Given the description of an element on the screen output the (x, y) to click on. 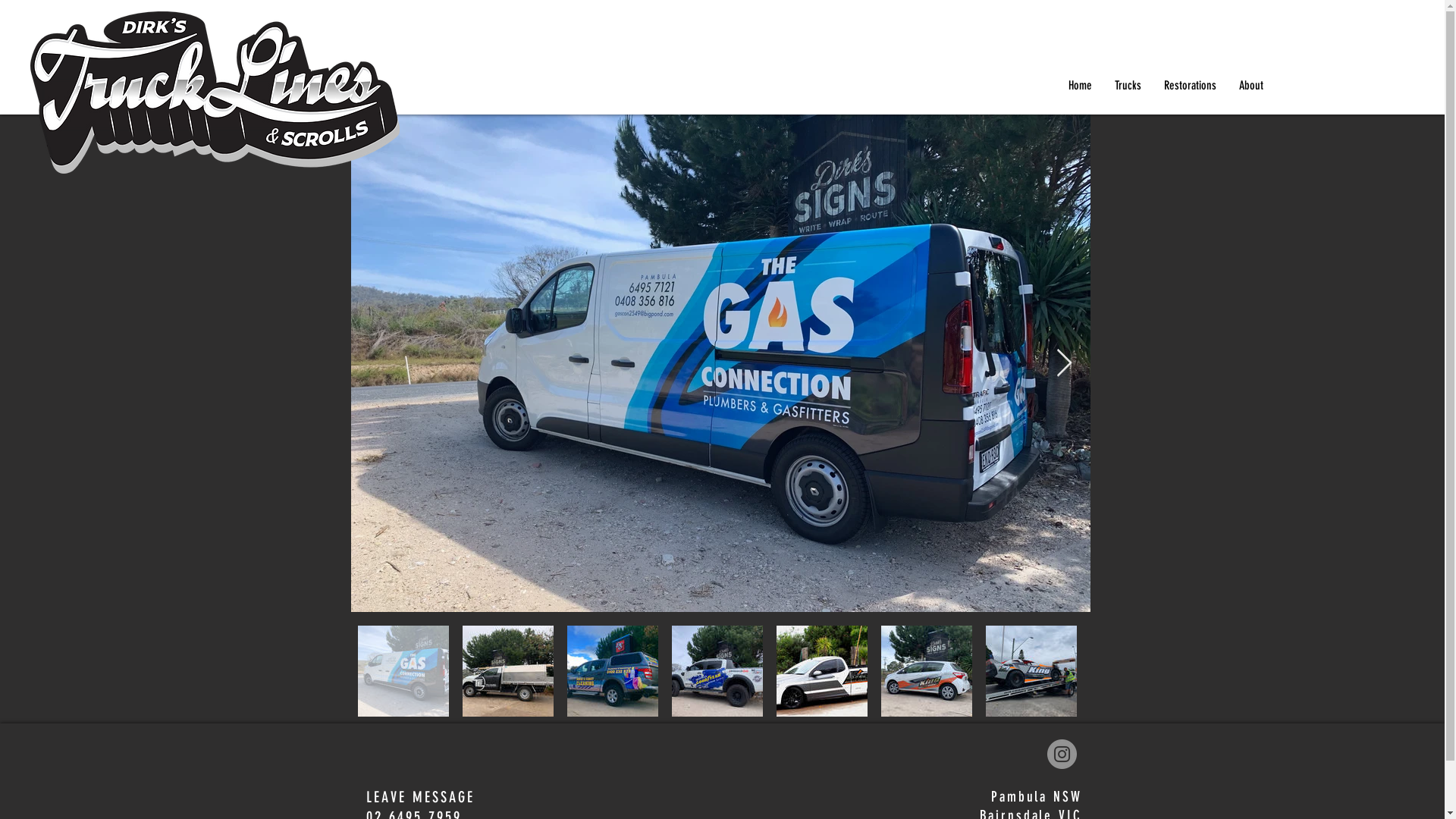
Home Element type: text (1080, 85)
Restorations Element type: text (1189, 85)
Trucks Element type: text (1127, 85)
Truck Signs Element type: hover (214, 92)
About Element type: text (1250, 85)
